Given the description of an element on the screen output the (x, y) to click on. 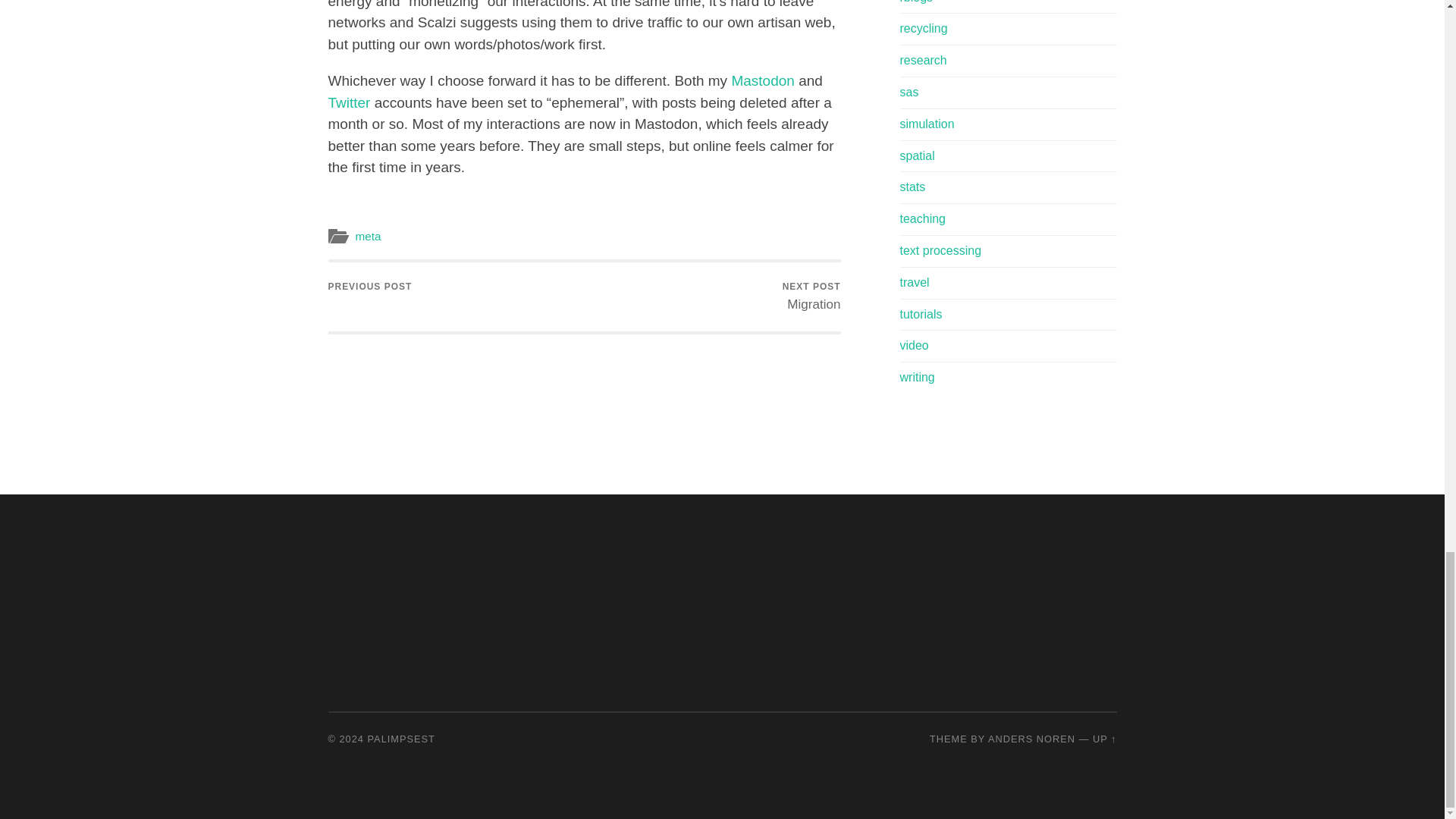
meta (367, 236)
To the top (1104, 738)
PREVIOUS POST (369, 289)
Mastodon (761, 80)
Twitter (348, 102)
